Given the description of an element on the screen output the (x, y) to click on. 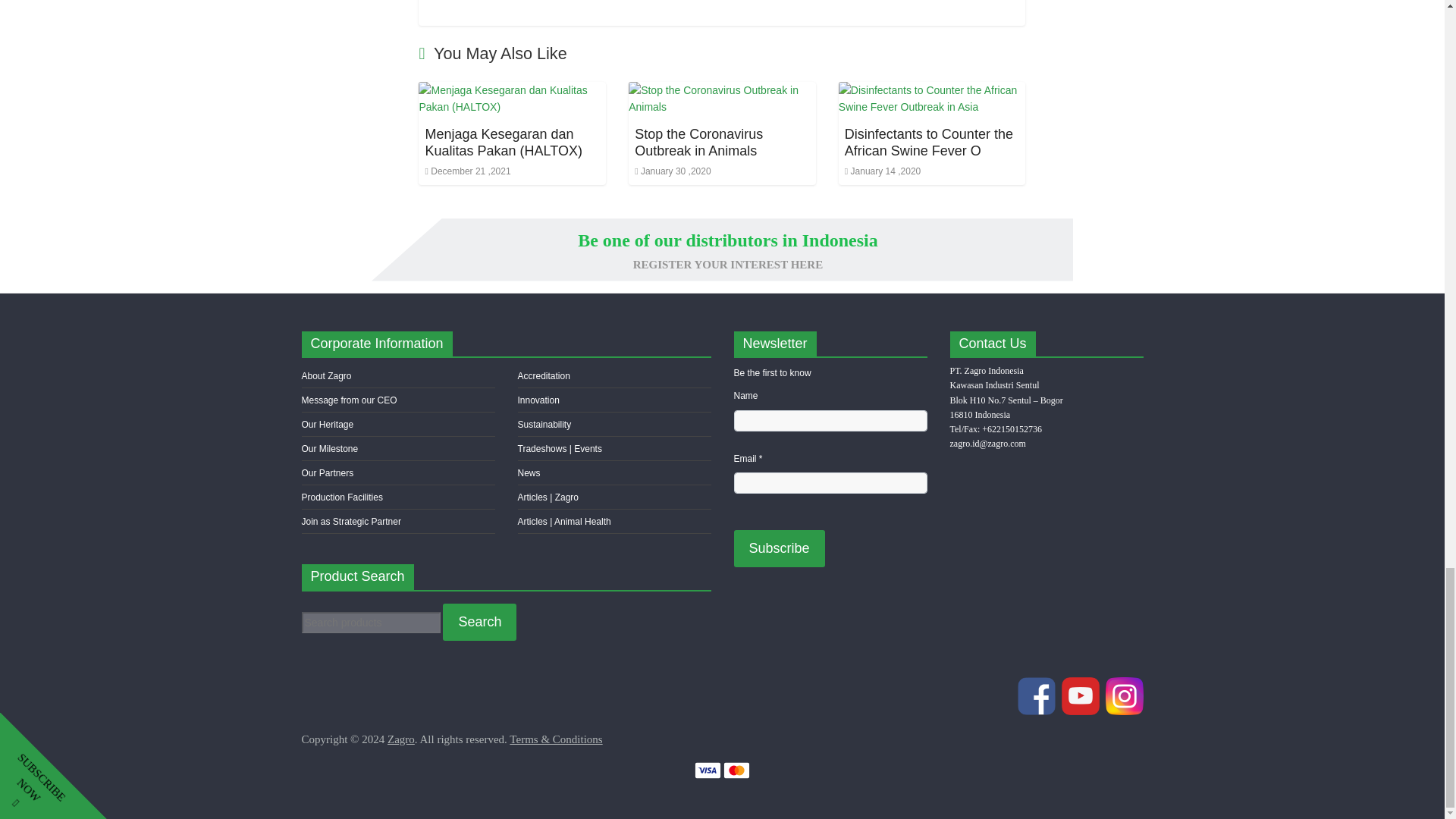
facebook (1037, 694)
Subscribe (779, 548)
Instagram (1123, 694)
youtube (1081, 694)
